Given the description of an element on the screen output the (x, y) to click on. 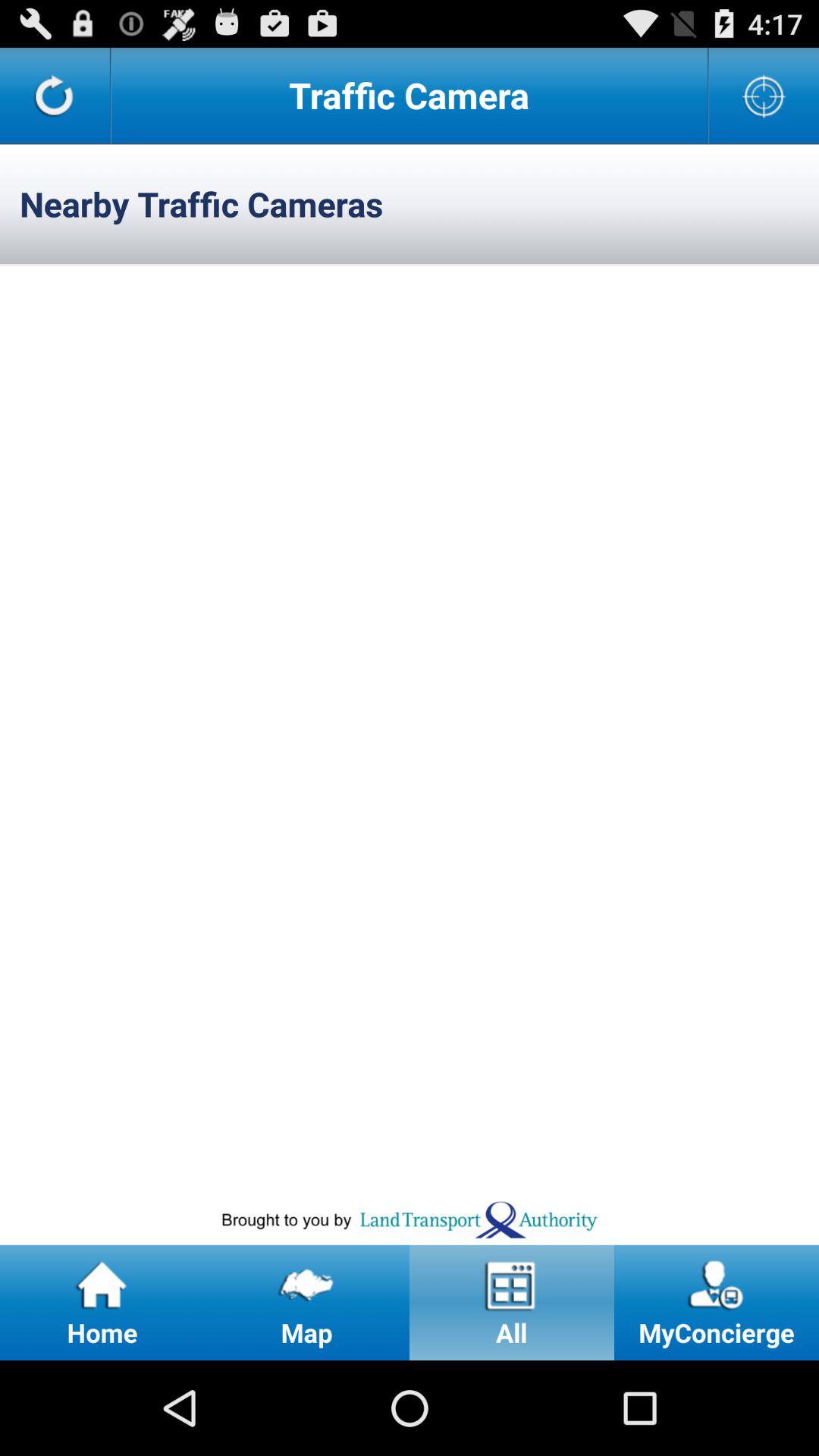
repeat (54, 95)
